Given the description of an element on the screen output the (x, y) to click on. 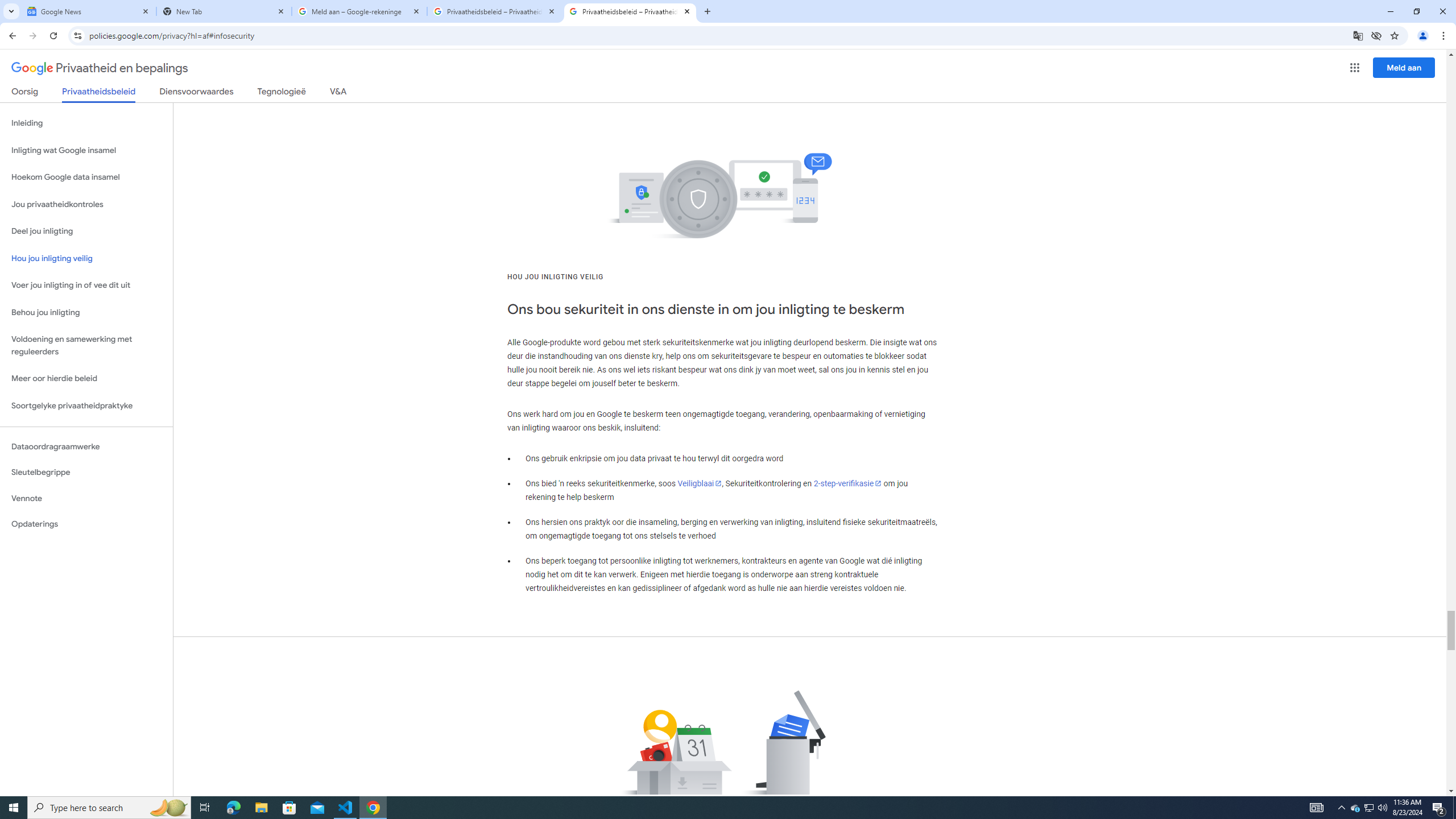
Voer jou inligting in of vee dit uit (86, 284)
Behou jou inligting (86, 312)
Veiligblaai (699, 483)
Sleutelbegrippe (86, 472)
Opdaterings (86, 524)
Deel jou inligting (86, 230)
